Given the description of an element on the screen output the (x, y) to click on. 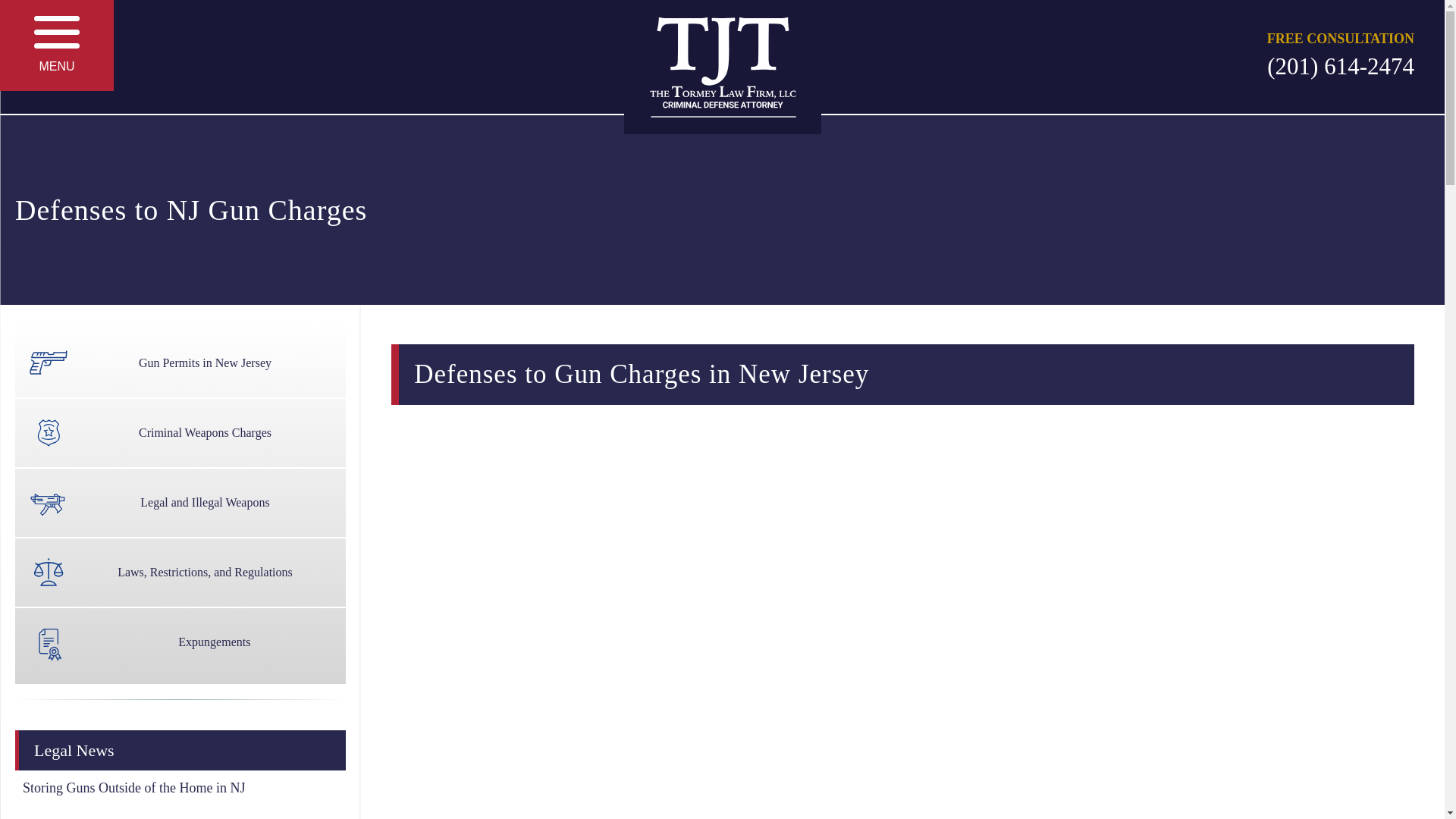
Criminal Weapons Charges (180, 432)
Legal and Illegal Weapons (180, 502)
Gun Permits in New Jersey (180, 363)
